Given the description of an element on the screen output the (x, y) to click on. 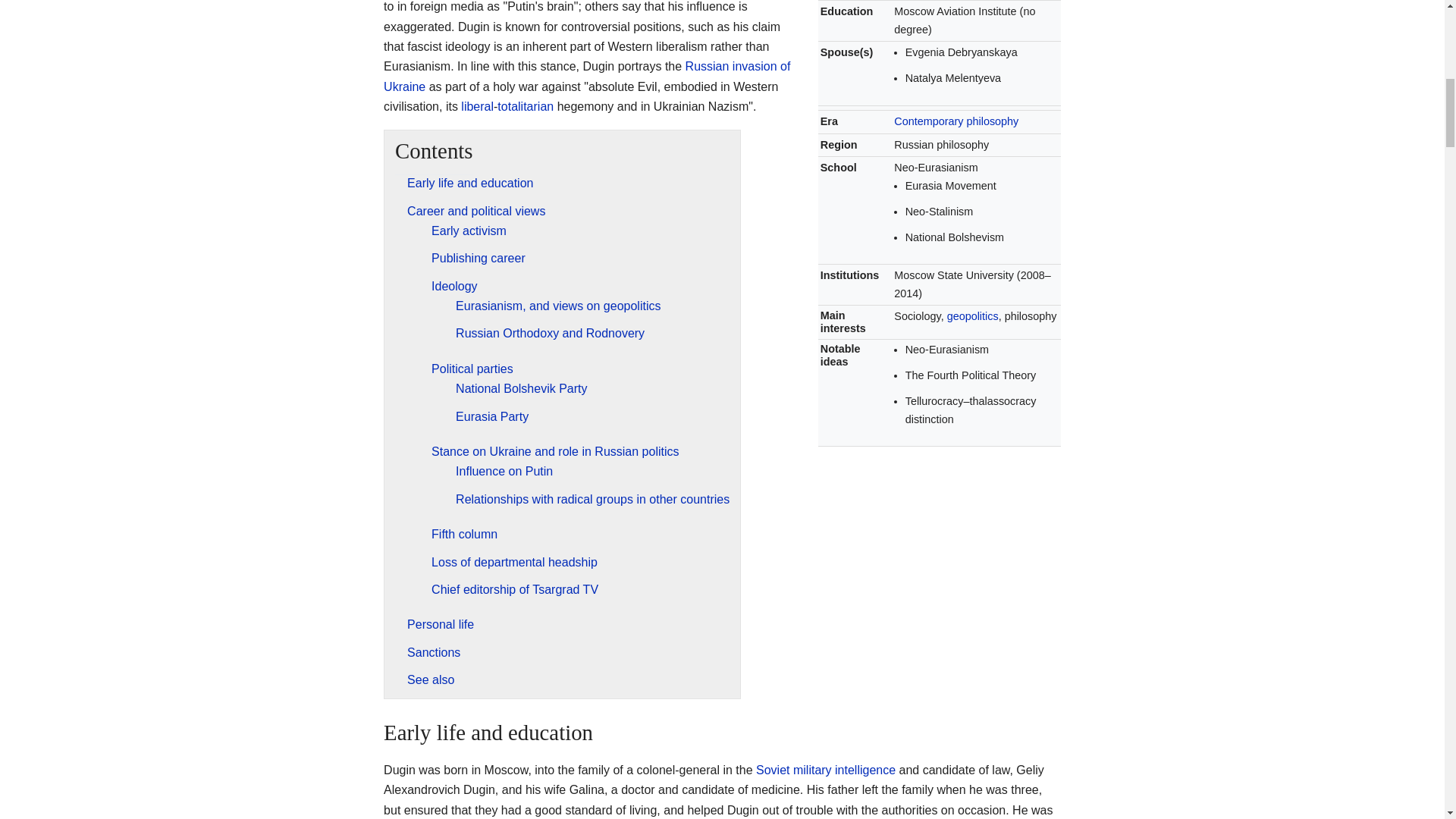
Eurasia Party (491, 416)
Russian Orthodoxy and Rodnovery (550, 332)
Eurasianism, and views on geopolitics (558, 305)
Russian invasion of Ukraine (587, 75)
Contemporary philosophy (955, 121)
Early life and education (469, 182)
geopolitics (972, 316)
totalitarian (525, 106)
Publishing career (477, 257)
Liberalism (477, 106)
Geopolitics (972, 316)
Contemporary philosophy (955, 121)
Early activism (468, 230)
Russian invasion of Ukraine (587, 75)
Career and political views (475, 210)
